Given the description of an element on the screen output the (x, y) to click on. 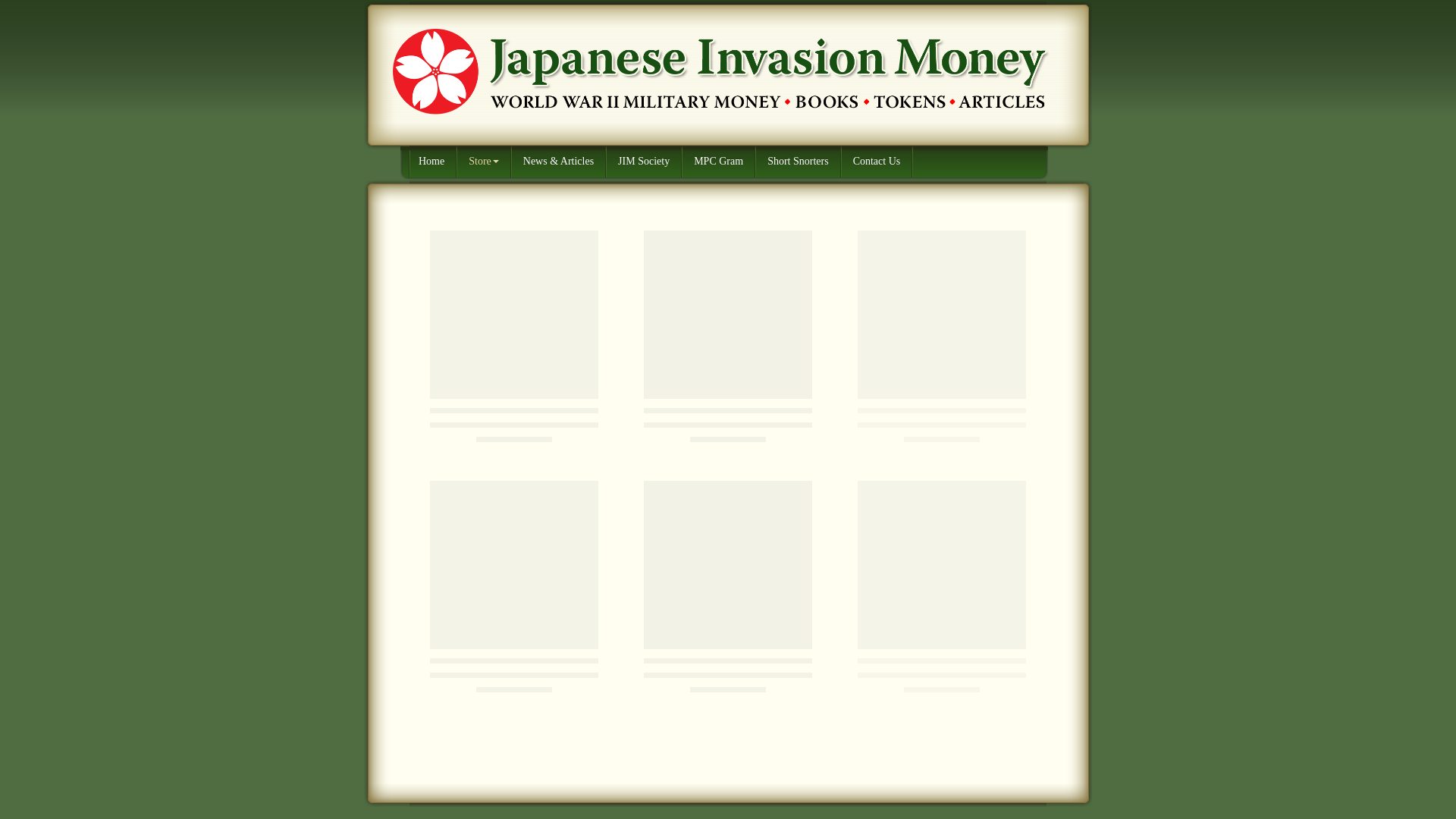
Home Element type: text (431, 161)
News & Articles Element type: text (558, 161)
Store Element type: text (484, 161)
Contact Us Element type: text (877, 161)
Short Snorters Element type: text (798, 161)
JIM Society Element type: text (643, 161)
MPC Gram Element type: text (718, 161)
